Given the description of an element on the screen output the (x, y) to click on. 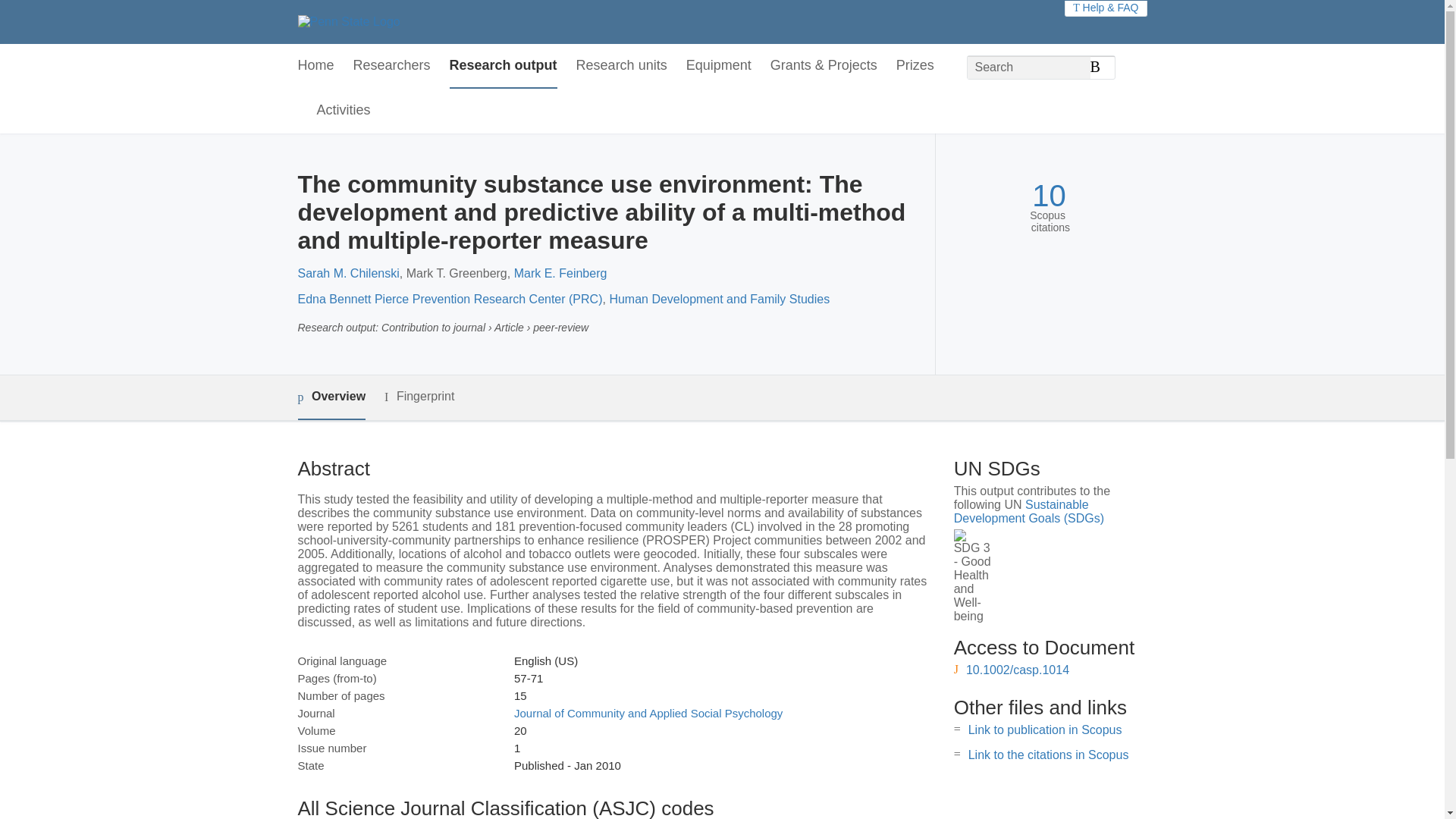
Researchers (391, 66)
Research output (503, 66)
Activities (344, 110)
Sarah M. Chilenski (347, 273)
Equipment (718, 66)
Journal of Community and Applied Social Psychology (648, 712)
Mark E. Feinberg (560, 273)
Overview (331, 397)
Human Development and Family Studies (718, 298)
